Given the description of an element on the screen output the (x, y) to click on. 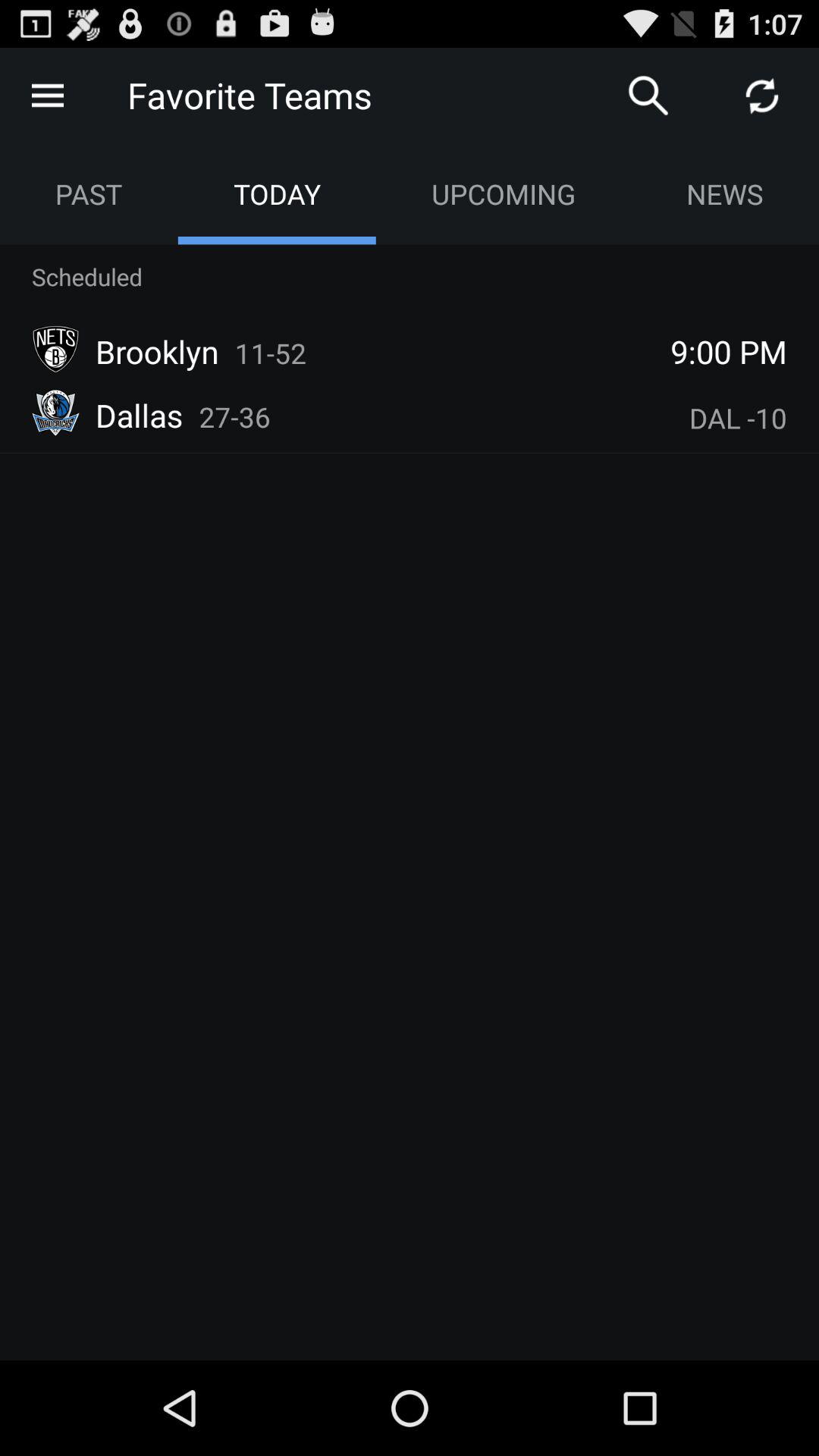
press 11-52 icon (270, 352)
